Given the description of an element on the screen output the (x, y) to click on. 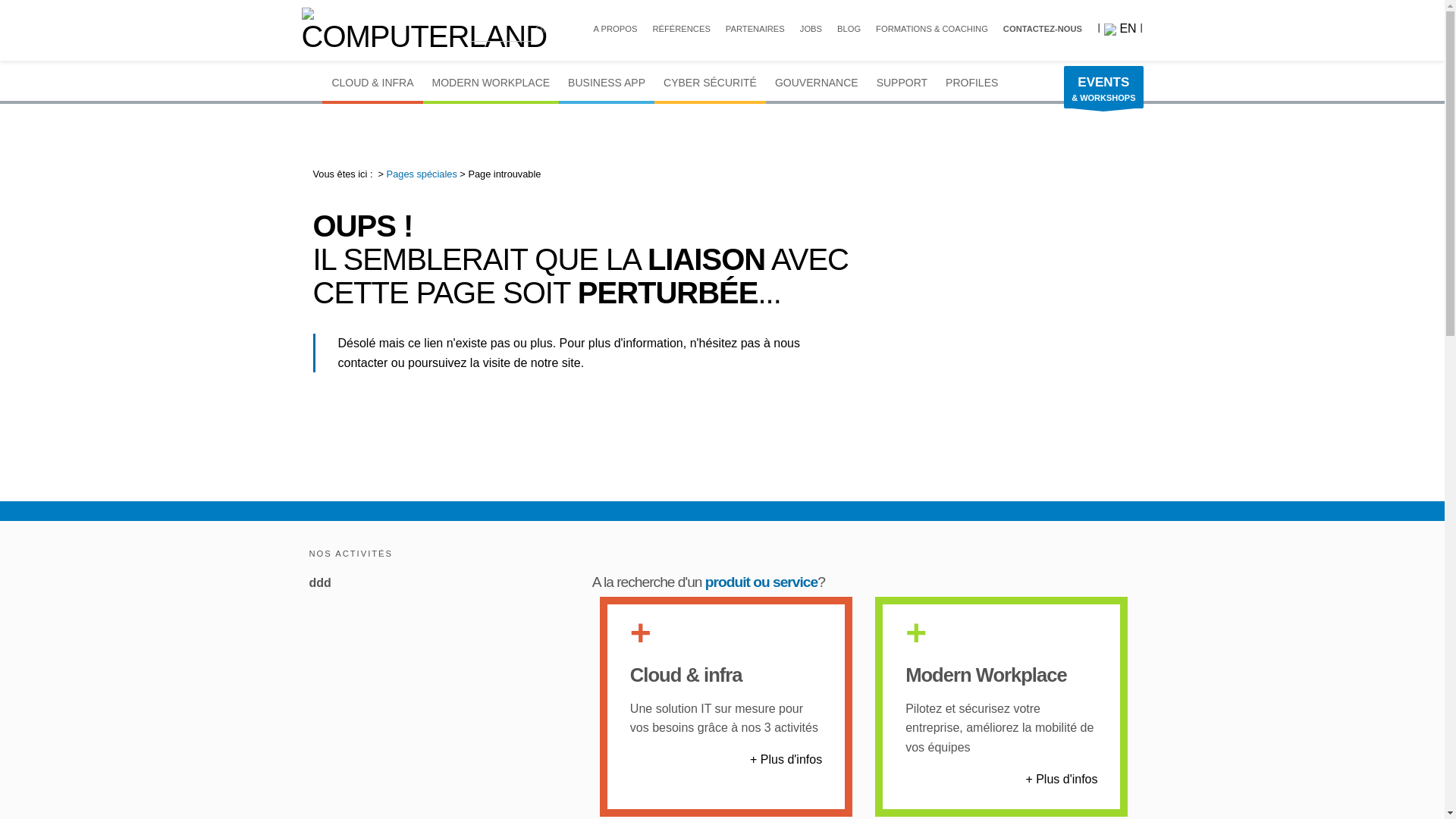
Computerland ERP & IT Services Element type: hover (424, 30)
PARTENAIRES Element type: text (754, 28)
+ Plus d'infos Element type: text (1061, 778)
GOUVERNANCE Element type: text (816, 80)
A PROPOS Element type: text (615, 28)
CLOUD & INFRA Element type: text (372, 80)
  Element type: text (312, 80)
BLOG Element type: text (848, 28)
SUPPORT Element type: text (901, 80)
JOBS Element type: text (811, 28)
FORMATIONS & COACHING Element type: text (931, 28)
EVENTS
& WORKSHOPS Element type: text (1102, 86)
MODERN WORKPLACE Element type: text (491, 80)
OK Element type: text (542, 29)
BUSINESS APP Element type: text (606, 80)
EN Element type: text (1120, 27)
+ Plus d'infos Element type: text (785, 759)
PROFILES Element type: text (971, 80)
